Given the description of an element on the screen output the (x, y) to click on. 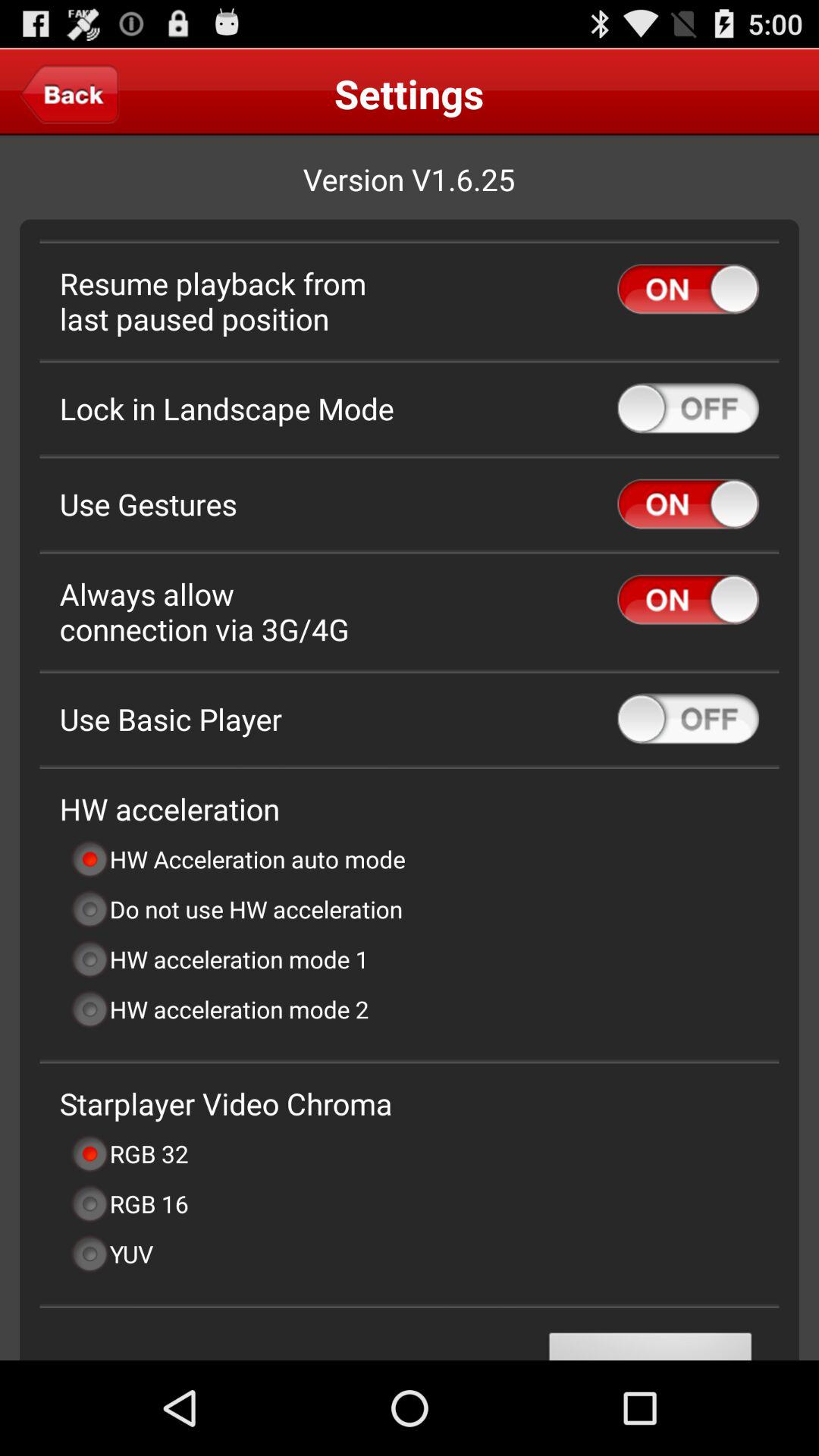
click the icon above the hw acceleration mode radio button (235, 909)
